Given the description of an element on the screen output the (x, y) to click on. 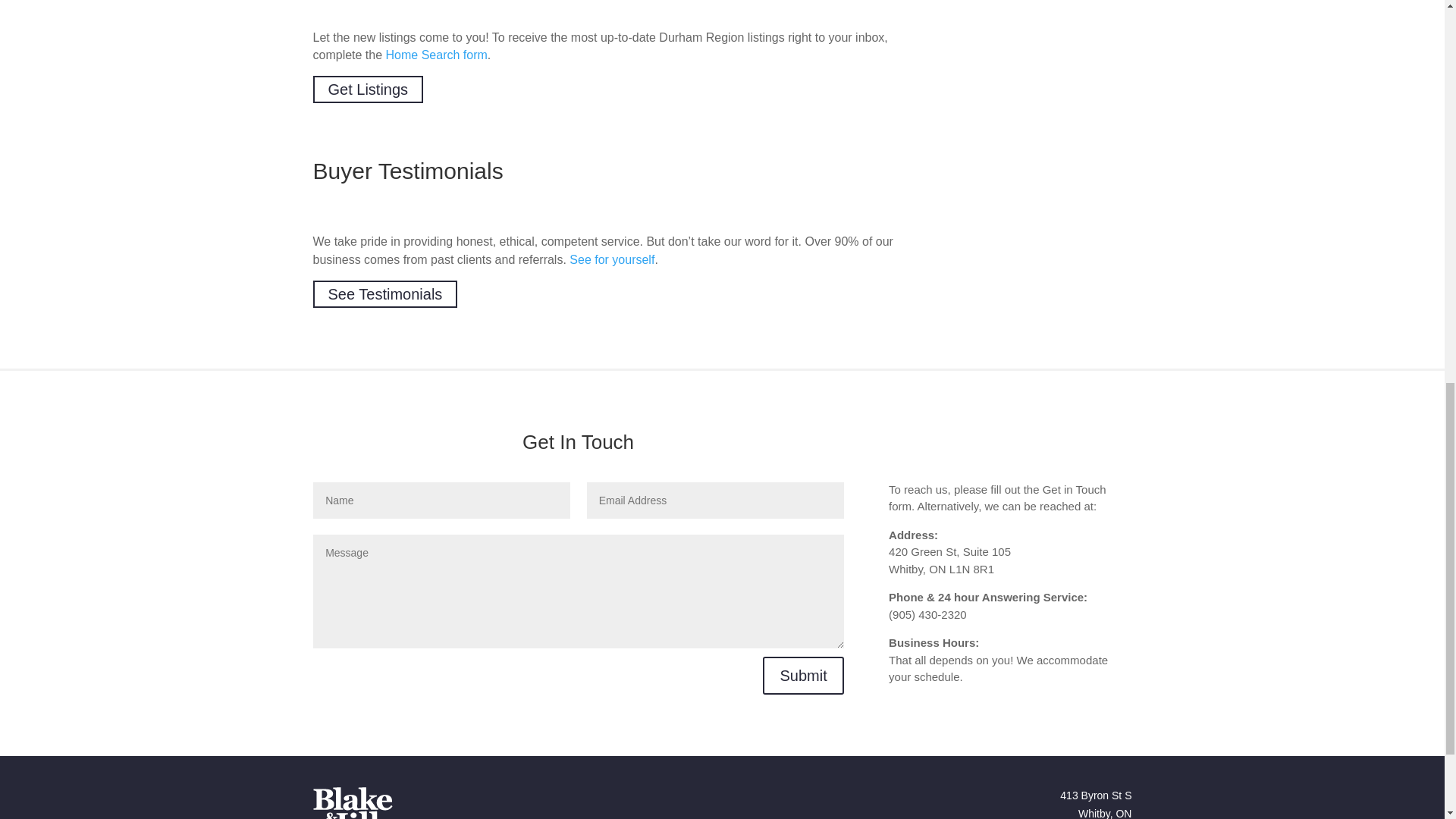
Home Search form (436, 54)
Submit (802, 675)
BAJlogo (352, 803)
See for yourself (611, 259)
Get Listings (368, 89)
See Testimonials (385, 293)
